Given the description of an element on the screen output the (x, y) to click on. 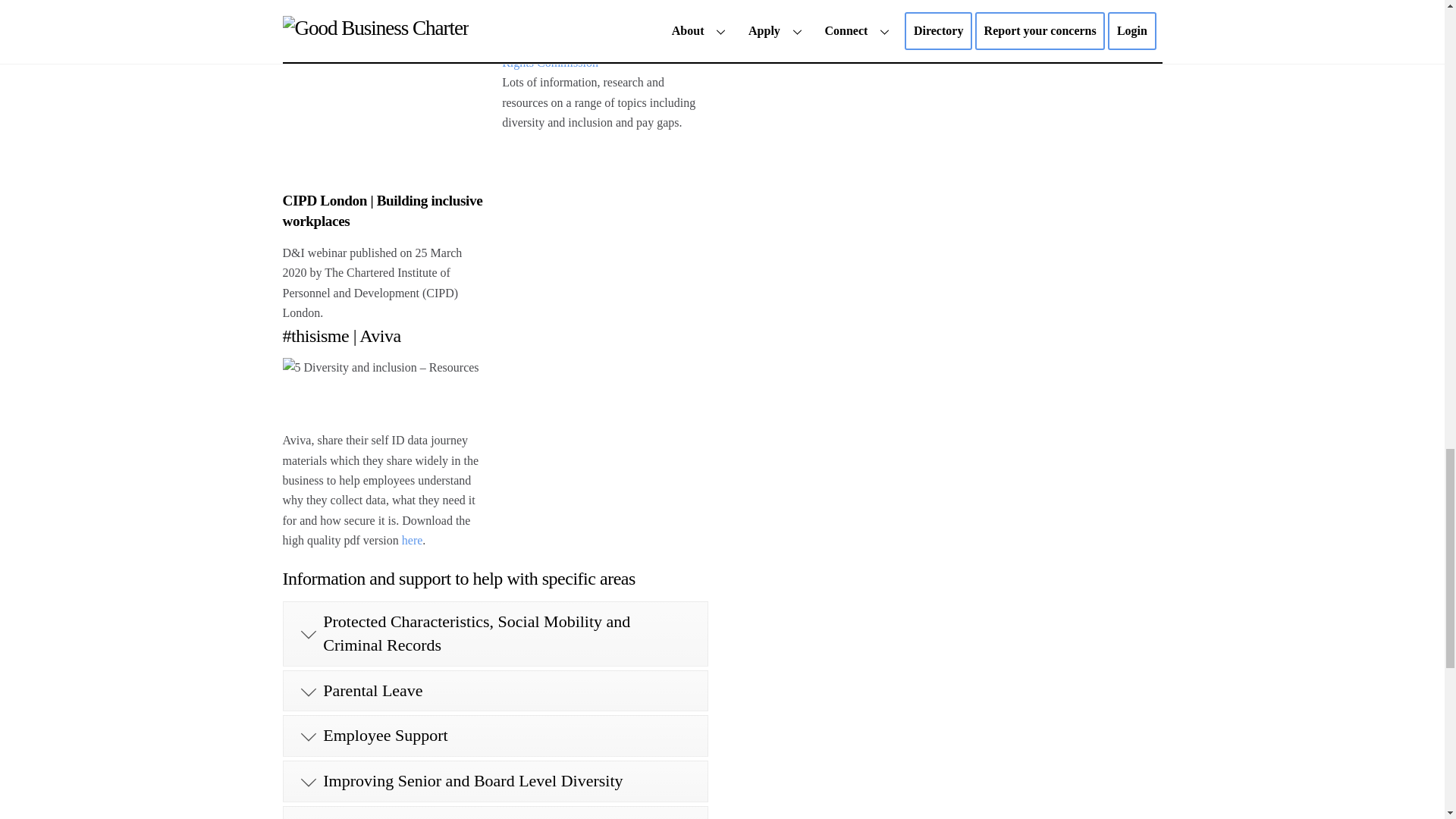
here (412, 540)
